Given the description of an element on the screen output the (x, y) to click on. 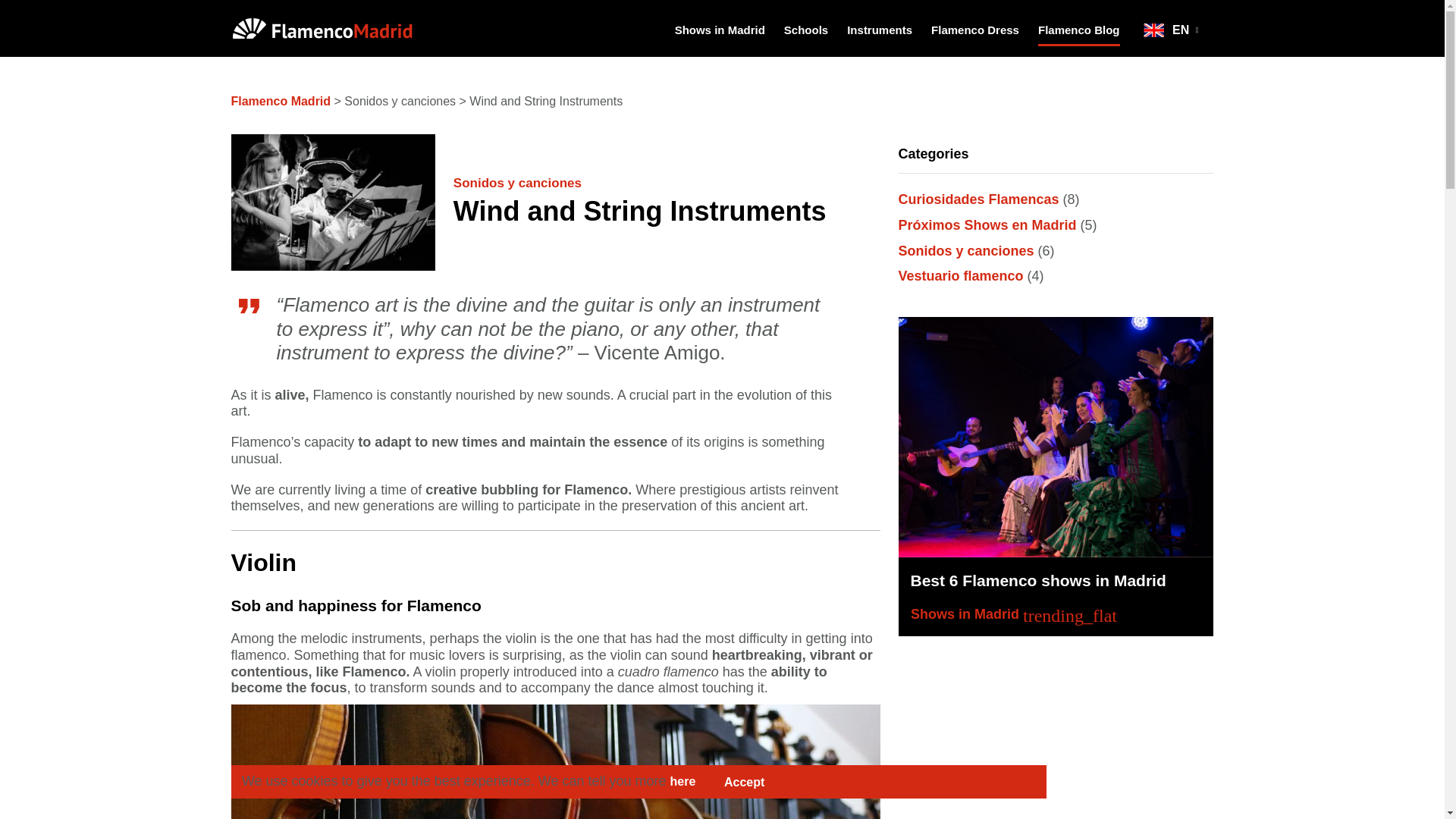
Curiosidades Flamencas (978, 199)
Vestuario flamenco (960, 275)
Accept (743, 781)
here (682, 780)
Schools (805, 28)
Flamenco Blog (1078, 28)
Sonidos y canciones (965, 250)
Flamenco Dress (974, 28)
flamenco-violin (554, 761)
Shows in Madrid (719, 28)
Instruments (880, 28)
Flamenco Madrid (280, 101)
Sonidos y canciones (516, 183)
Flamenco Madrid (346, 28)
